Given the description of an element on the screen output the (x, y) to click on. 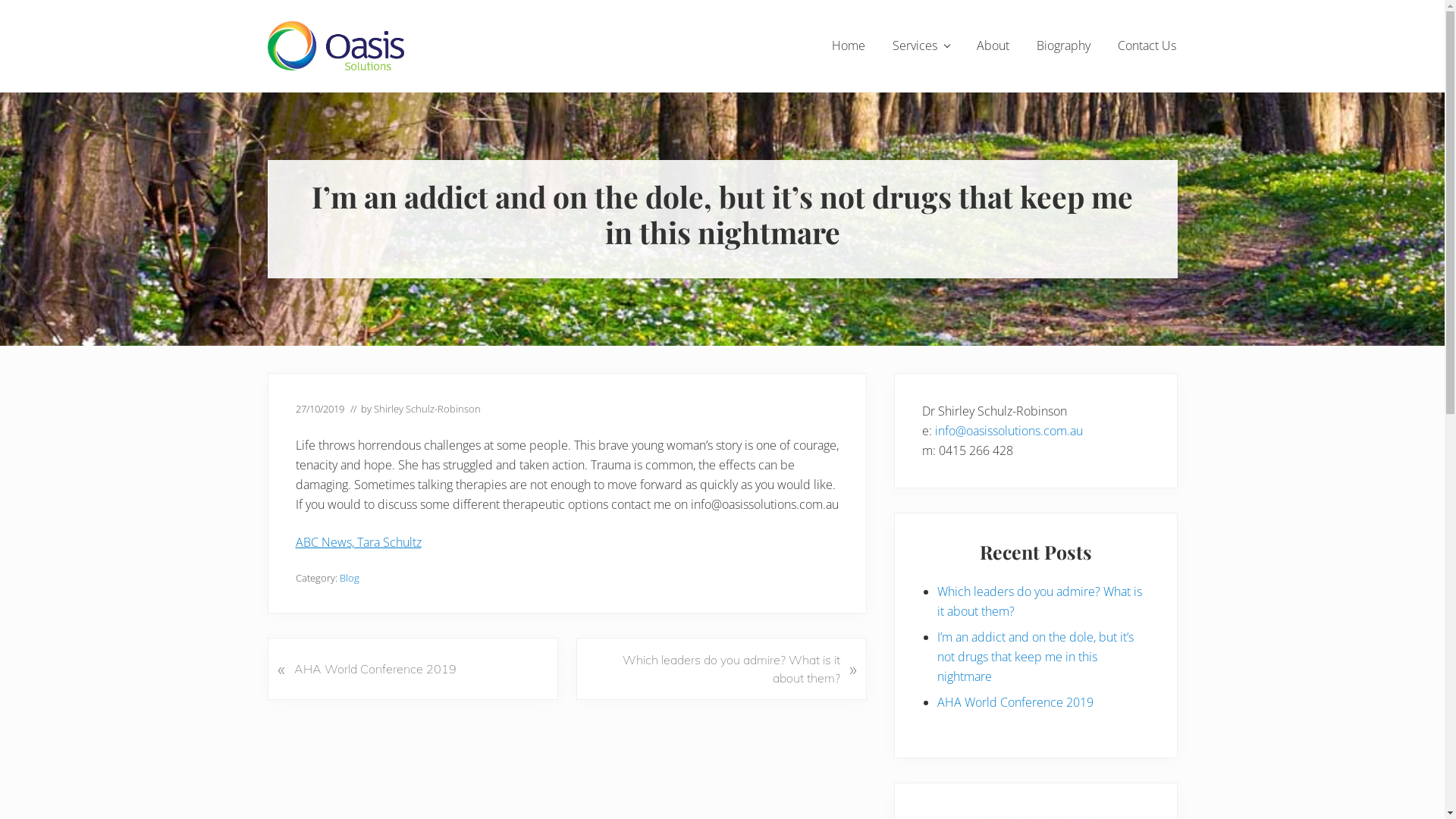
About Element type: text (992, 45)
Home Element type: text (847, 45)
info@oasissolutions.com.au Element type: text (1008, 430)
Skip to right header navigation Element type: text (0, 0)
AHA World Conference 2019 Element type: text (1015, 701)
Shirley Schulz-Robinson Element type: text (426, 408)
Contact Us Element type: text (1146, 45)
Blog Element type: text (349, 577)
ABC News, Tara Schultz Element type: text (358, 541)
Biography Element type: text (1062, 45)
Services Element type: text (919, 45)
Which leaders do you admire? What is it about them? Element type: text (1039, 601)
